Given the description of an element on the screen output the (x, y) to click on. 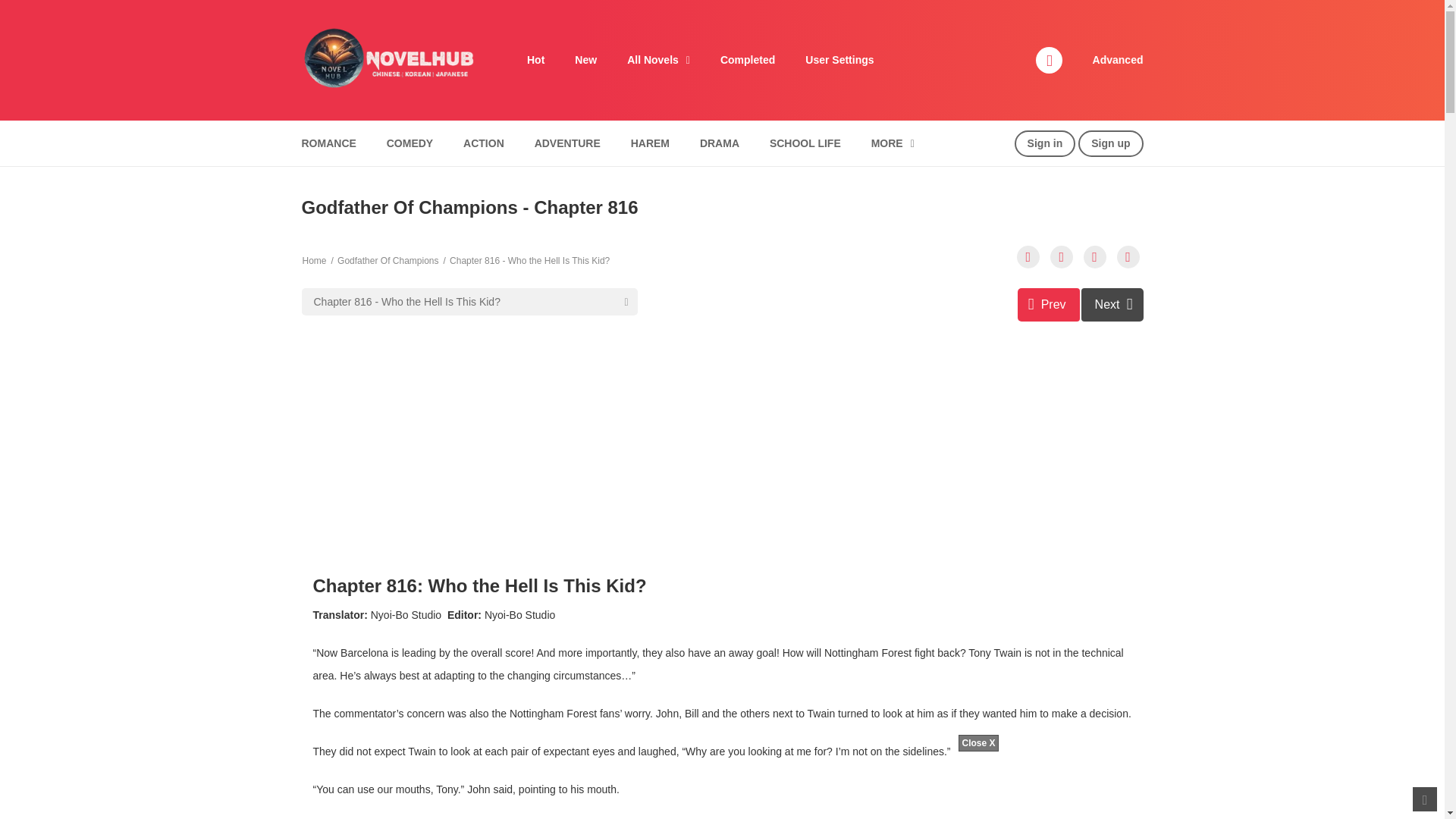
Chapter 815 (1048, 304)
SCHOOL LIFE (805, 143)
ADVENTURE (567, 143)
Hot (535, 59)
COMEDY (409, 143)
MORE (892, 143)
New (585, 59)
Bookmark (1094, 256)
DRAMA (719, 143)
Search (970, 9)
Advanced (1117, 60)
HAREM (650, 143)
ACTION (482, 143)
ROMANCE (328, 143)
User Settings (839, 59)
